Given the description of an element on the screen output the (x, y) to click on. 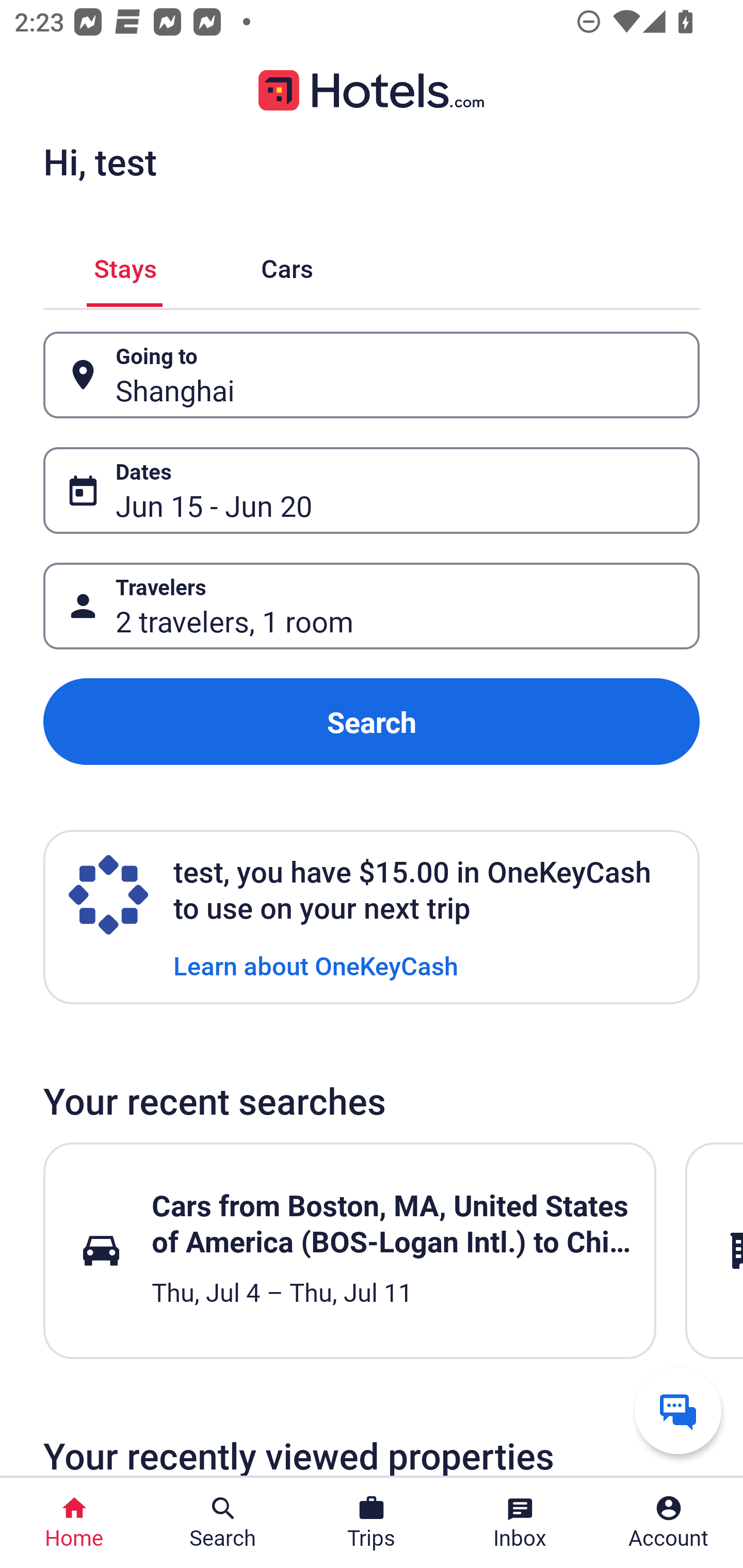
Hi, test (99, 161)
Cars (286, 265)
Going to Button Shanghai (371, 375)
Dates Button Jun 15 - Jun 20 (371, 489)
Travelers Button 2 travelers, 1 room (371, 605)
Search (371, 721)
Learn about OneKeyCash Learn about OneKeyCash Link (315, 964)
Get help from a virtual agent (677, 1410)
Search Search Button (222, 1522)
Trips Trips Button (371, 1522)
Inbox Inbox Button (519, 1522)
Account Profile. Button (668, 1522)
